Given the description of an element on the screen output the (x, y) to click on. 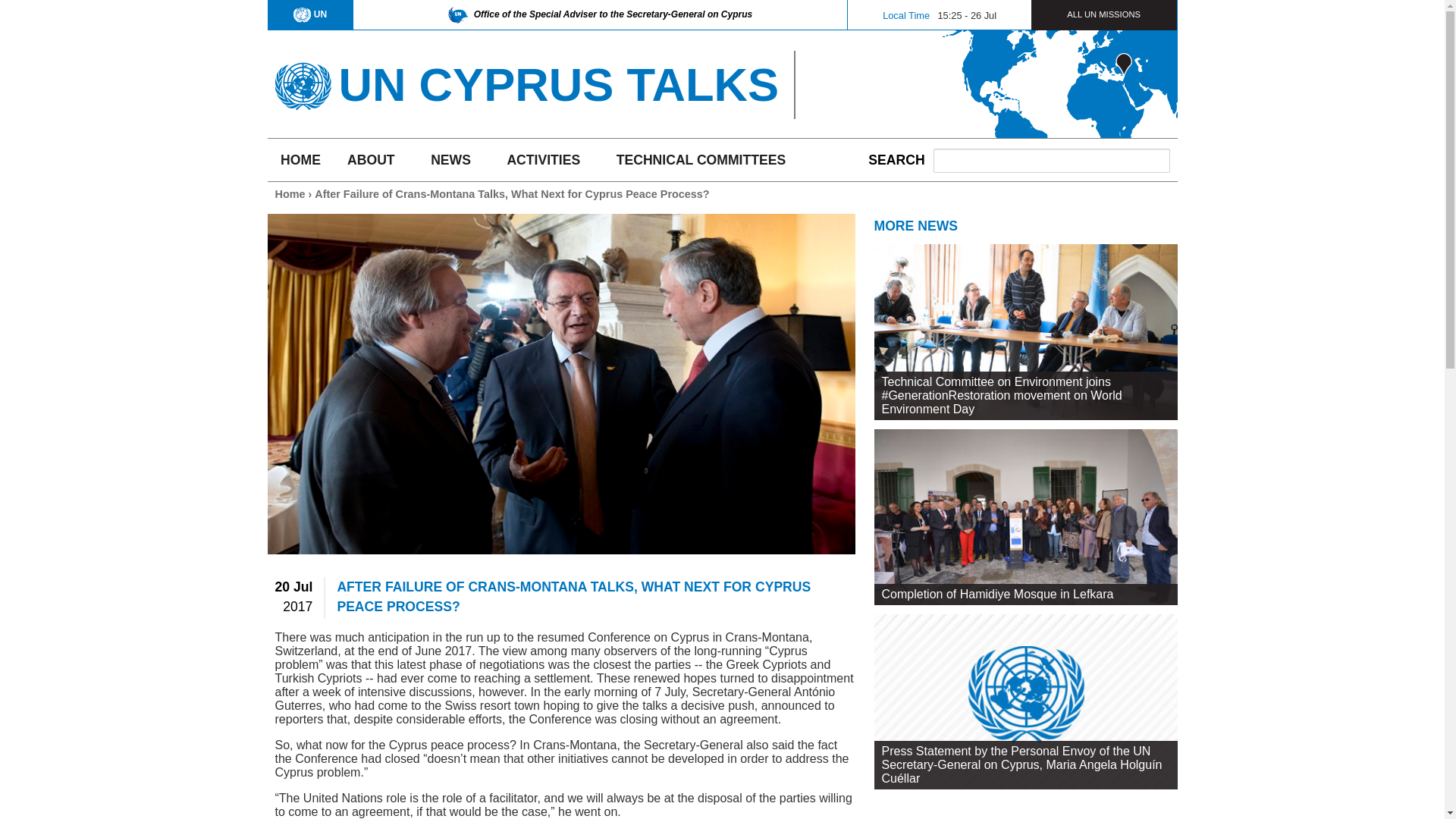
Home (301, 80)
HOME (299, 159)
Enter the terms you wish to search for. (1051, 160)
Home (557, 84)
UN (310, 14)
UN CYPRUS TALKS (557, 84)
ALL UN MISSIONS (1103, 13)
Home (289, 193)
